Given the description of an element on the screen output the (x, y) to click on. 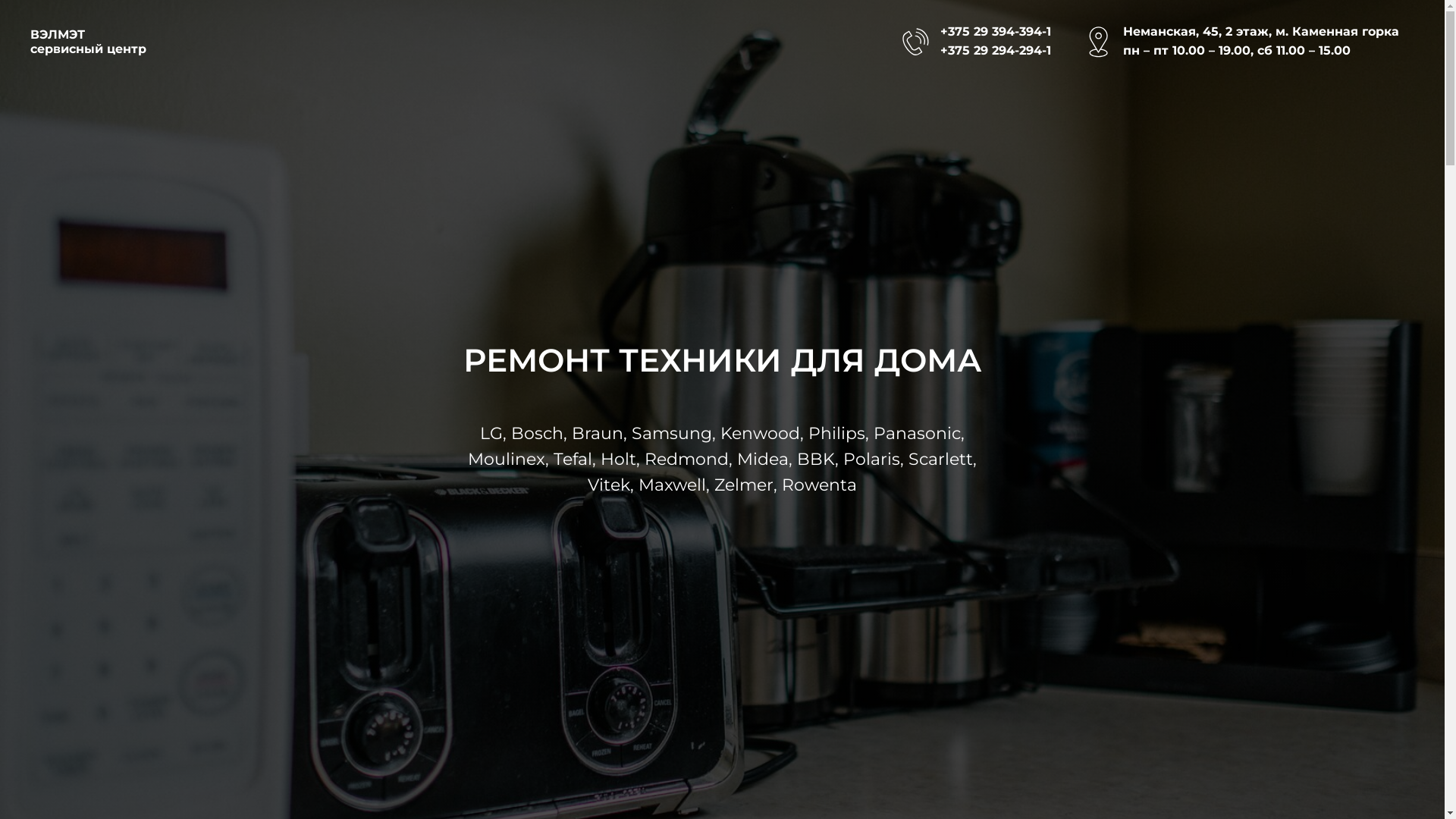
+375 29 294-294-1 Element type: text (995, 50)
+375 29 394-394-1 Element type: text (995, 31)
